Given the description of an element on the screen output the (x, y) to click on. 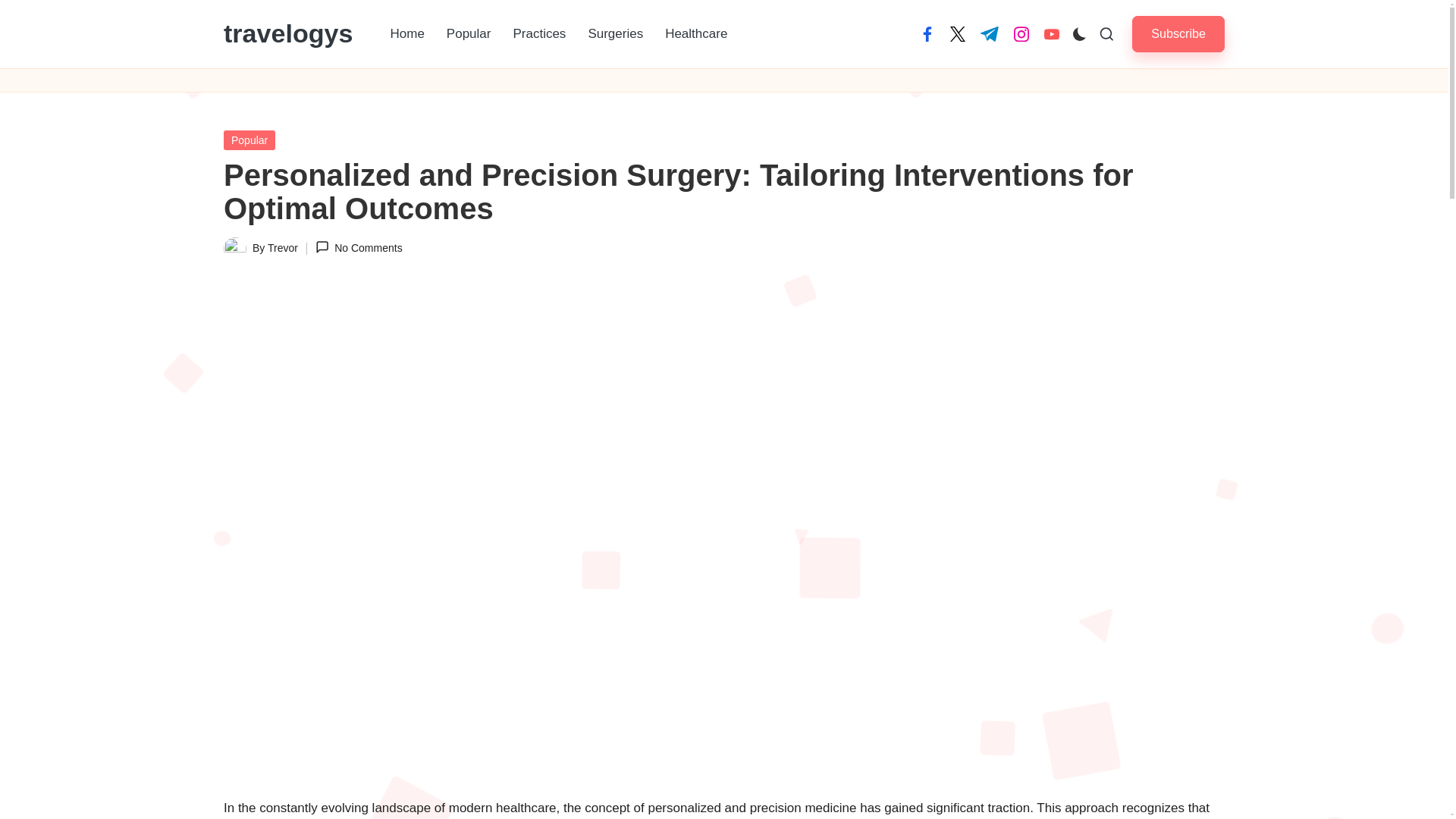
facebook.com (927, 33)
View all posts by Trevor (282, 247)
twitter.com (957, 33)
t.me (989, 33)
Surgeries (614, 33)
instagram.com (1020, 33)
youtube.com (1051, 33)
travelogys (288, 33)
No Comments (359, 248)
Home (405, 33)
